Given the description of an element on the screen output the (x, y) to click on. 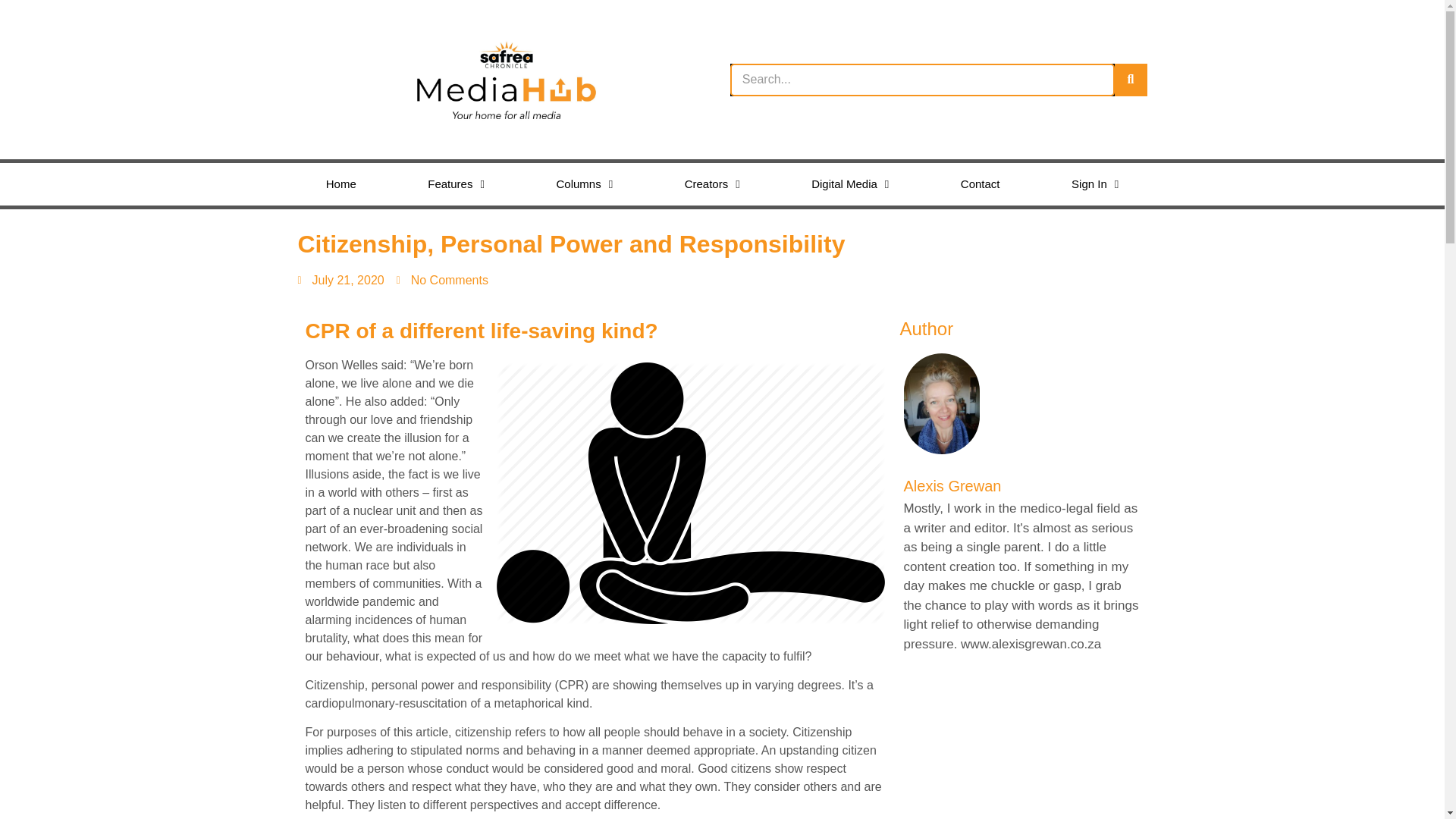
Columns (583, 183)
Features (455, 183)
Creators (711, 183)
Home (340, 183)
